Given the description of an element on the screen output the (x, y) to click on. 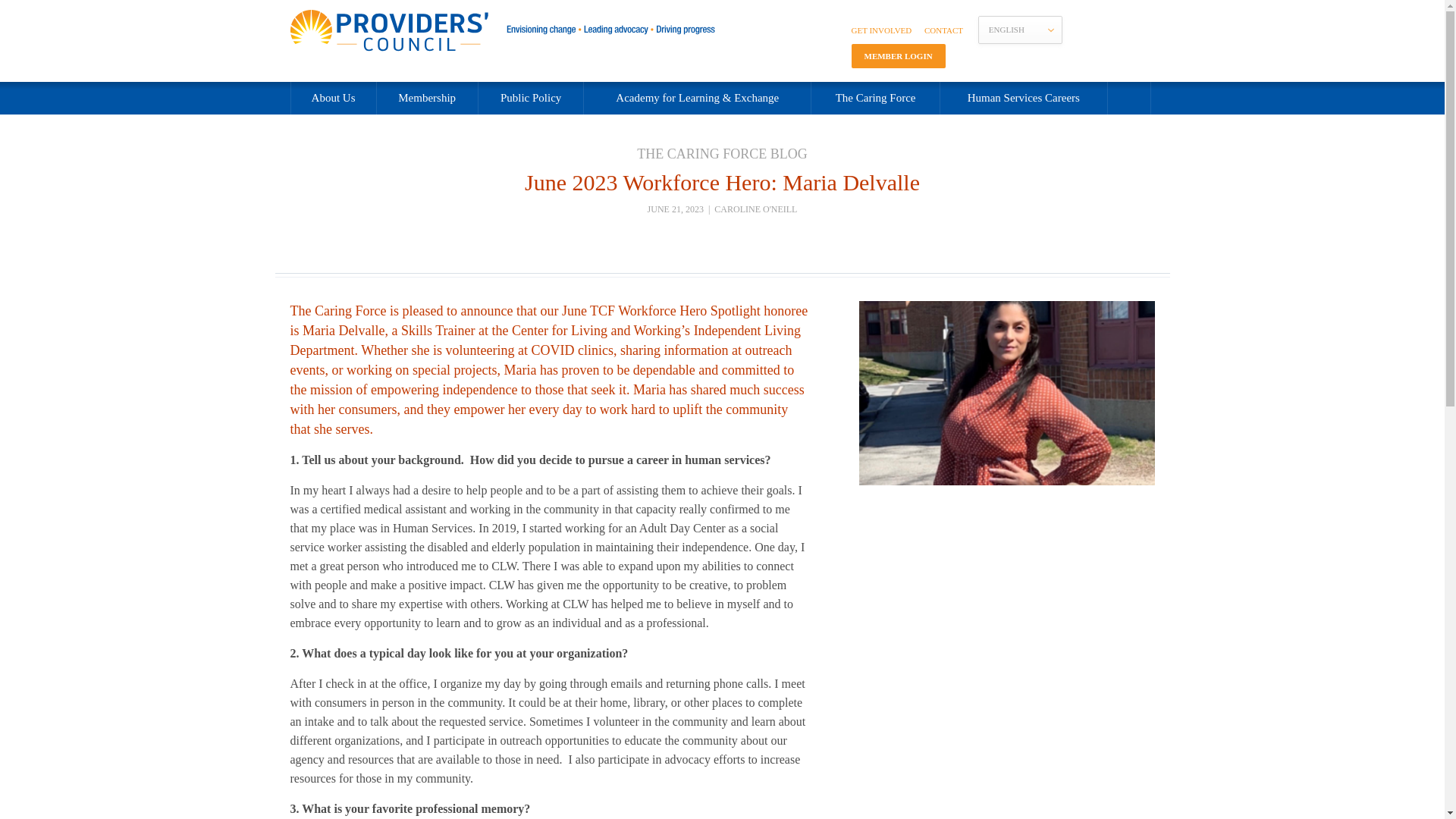
Provider's Council Logo - With Tagline (501, 30)
GET INVOLVED (880, 30)
Search Form Expander (1128, 97)
CONTACT (943, 30)
MEMBER LOGIN (897, 55)
